Given the description of an element on the screen output the (x, y) to click on. 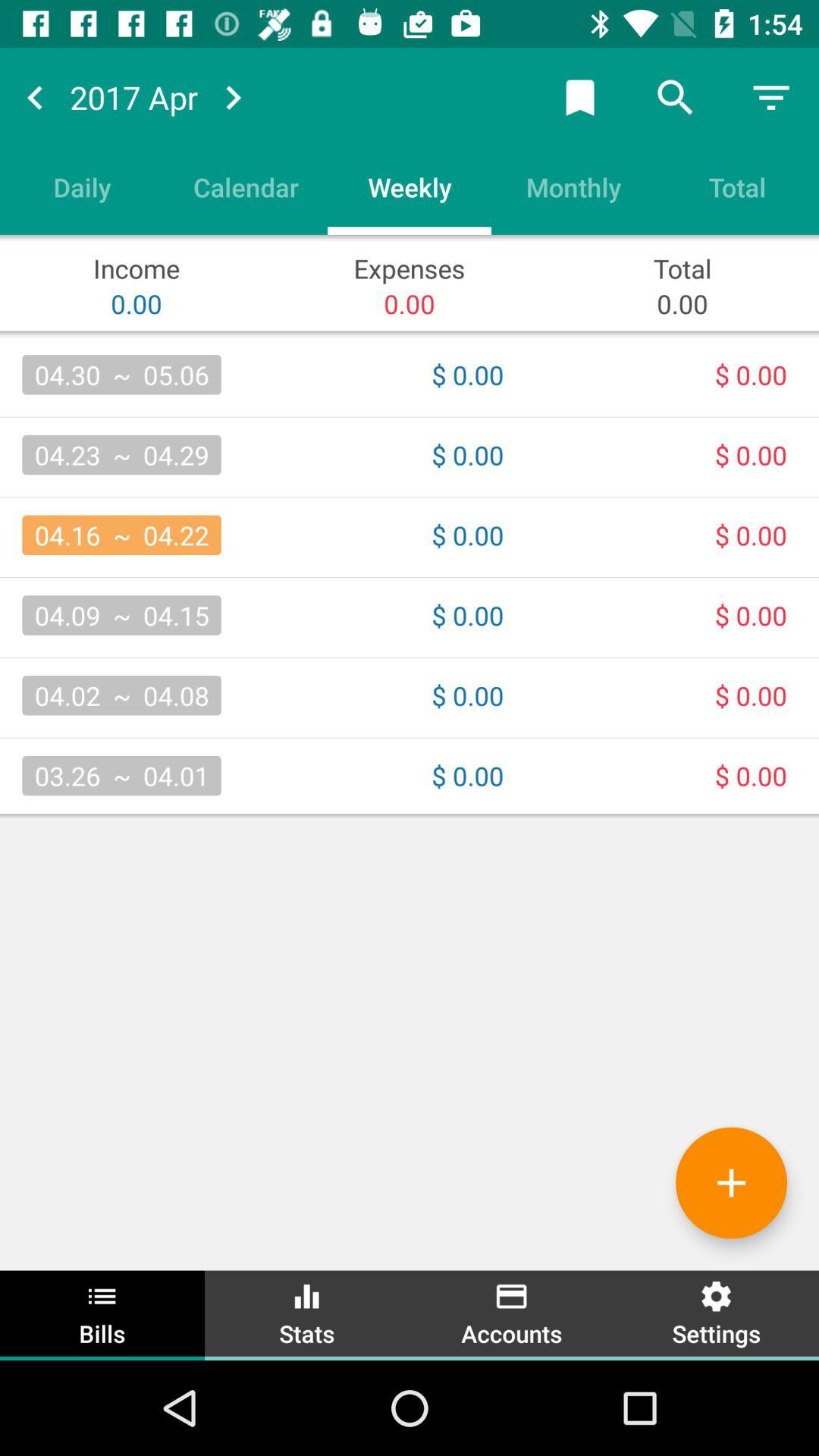
scroll until the weekly item (409, 186)
